Given the description of an element on the screen output the (x, y) to click on. 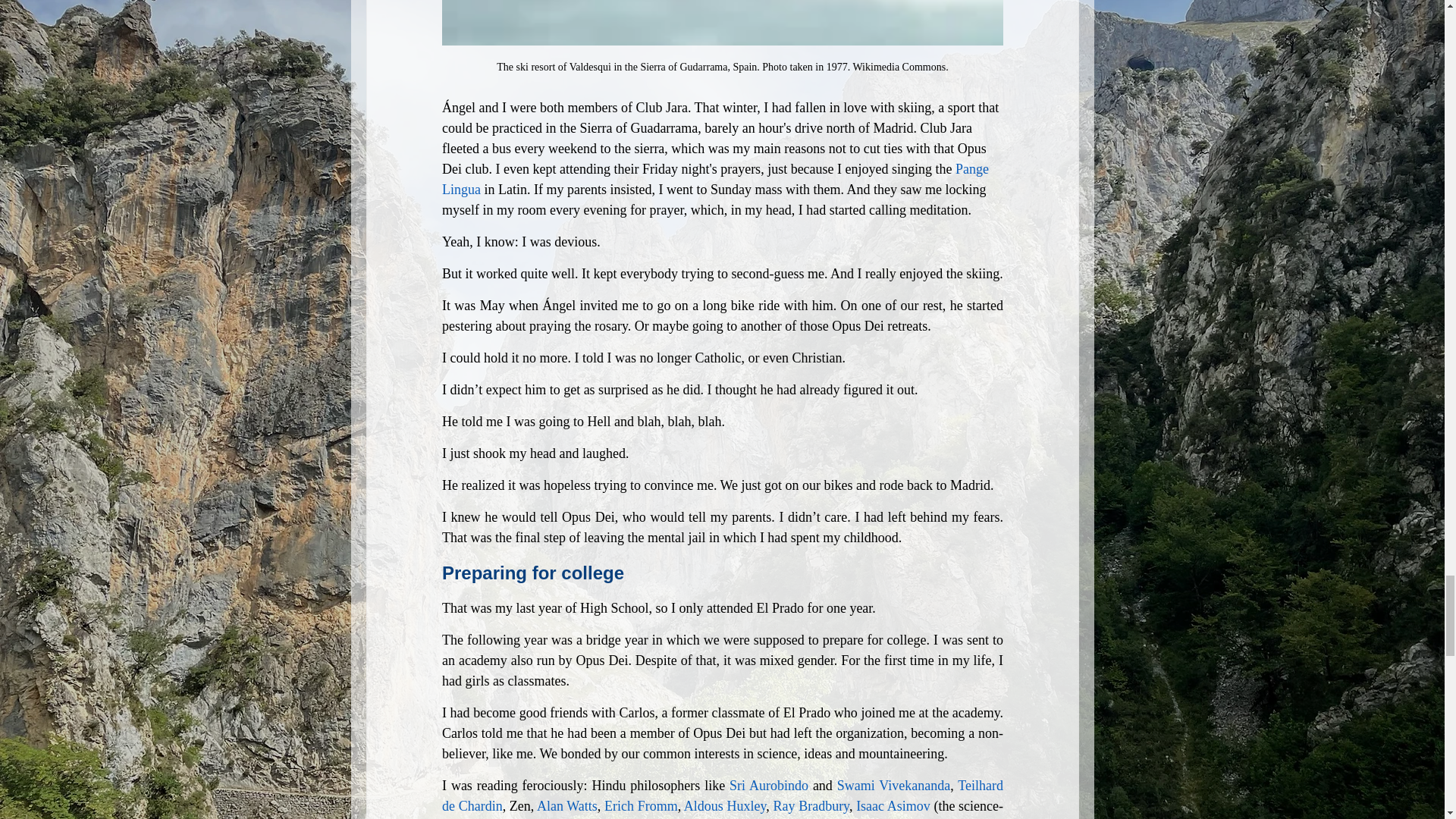
Swami Vivekananda (892, 785)
Teilhard de Chardin (723, 796)
Sri Aurobindo (768, 785)
Pange Lingua (716, 179)
